Given the description of an element on the screen output the (x, y) to click on. 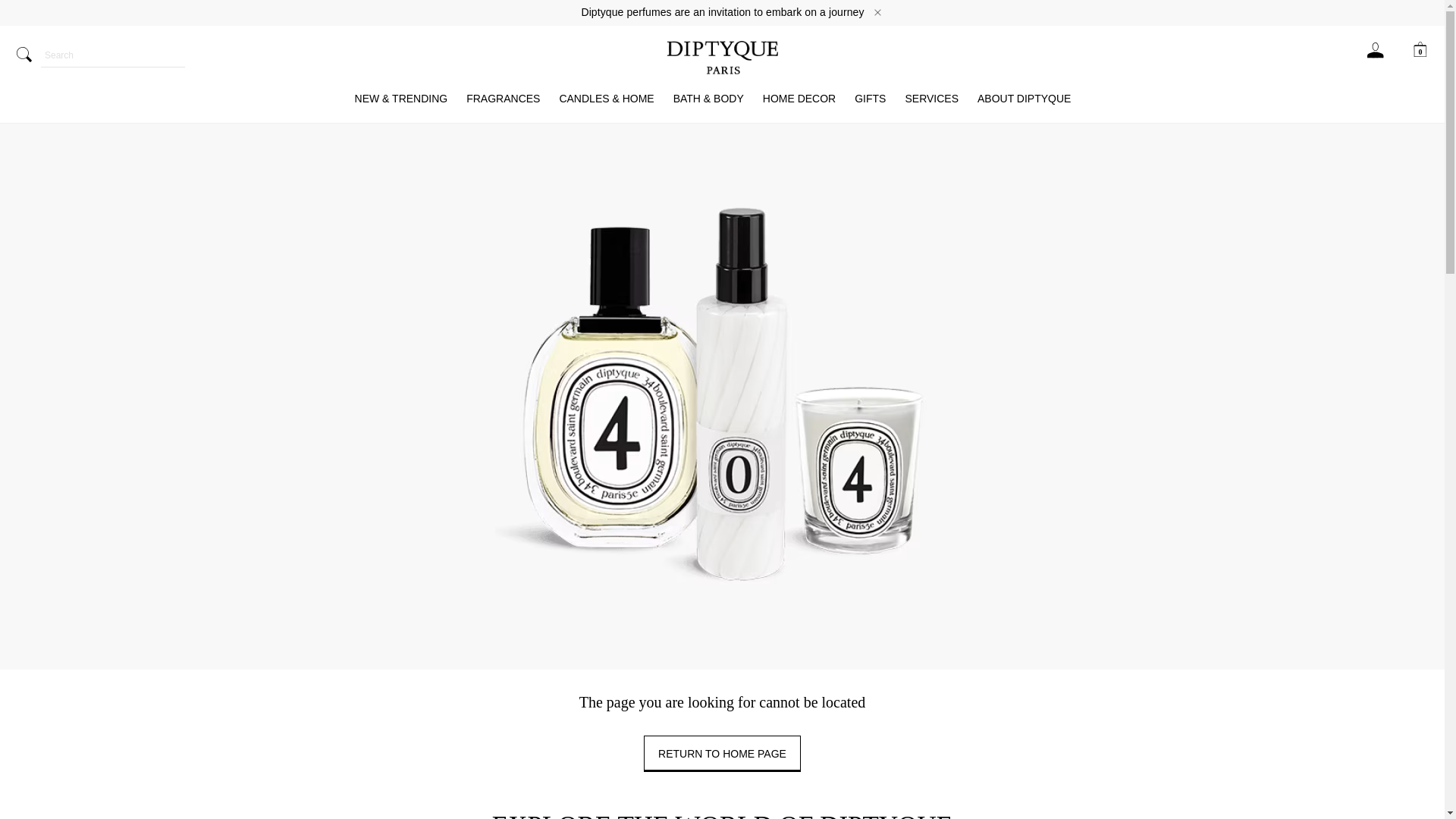
SERVICES (931, 98)
RETURN TO HOME PAGE (721, 753)
FRAGRANCES (502, 98)
0 (1419, 49)
GIFTS (869, 98)
Search (112, 53)
Diptyque perfumes are an invitation to embark on a journey (721, 12)
HOME DECOR (798, 98)
ABOUT DIPTYQUE (1023, 98)
